Given the description of an element on the screen output the (x, y) to click on. 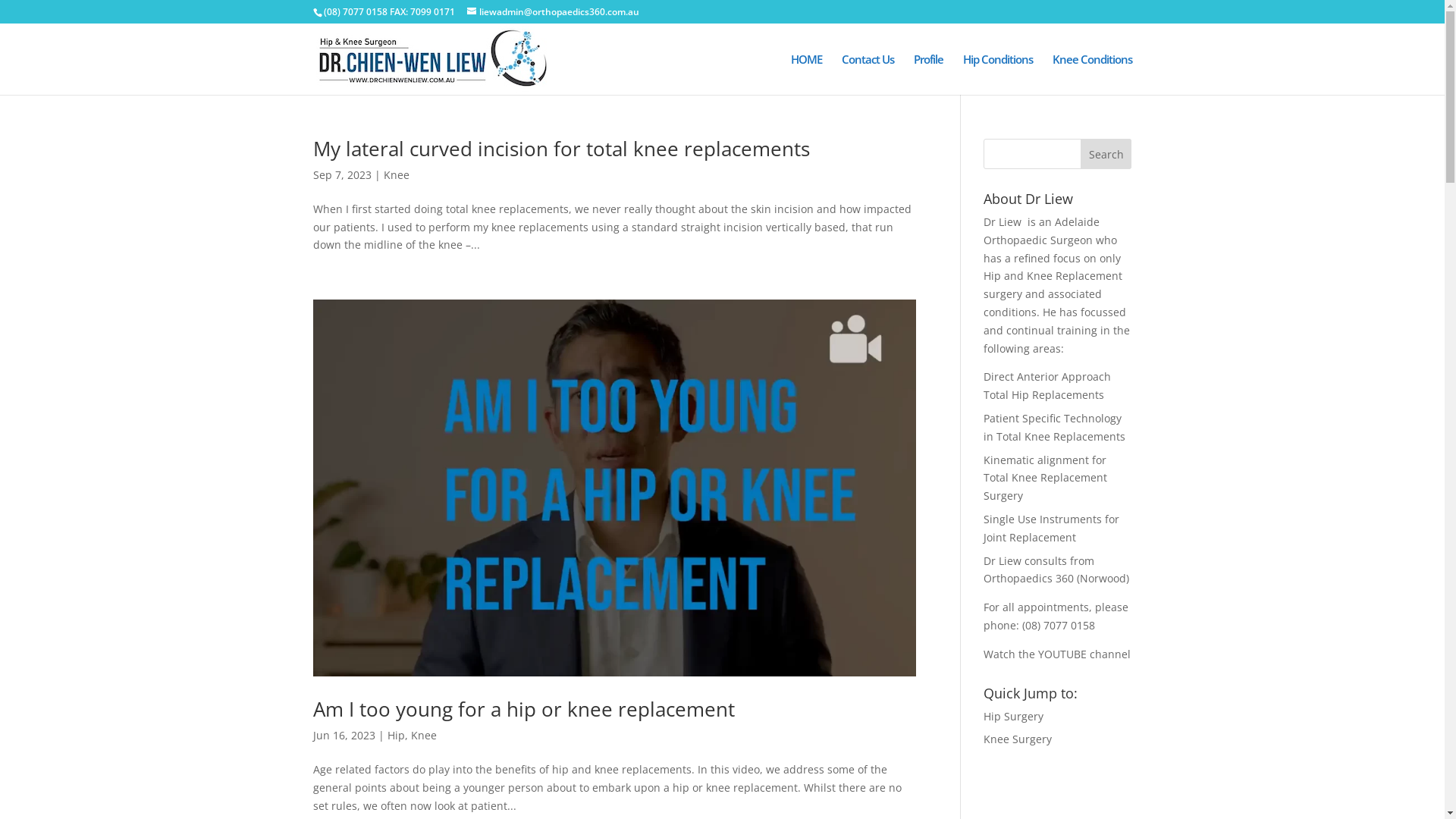
Am I too young for a hip or knee replacement Element type: text (523, 708)
Hip Element type: text (395, 735)
Knee Element type: text (423, 735)
Contact Us Element type: text (867, 73)
Hip Surgery Element type: text (1013, 716)
YOUTUBE channel Element type: text (1084, 653)
liewadmin@orthopaedics360.com.au Element type: text (553, 11)
Search Element type: text (1106, 153)
Knee Conditions Element type: text (1092, 73)
Knee Surgery Element type: text (1017, 738)
Profile Element type: text (927, 73)
HOME Element type: text (805, 73)
My lateral curved incision for total knee replacements Element type: text (560, 148)
Hip Conditions Element type: text (997, 73)
Knee Element type: text (396, 174)
